Given the description of an element on the screen output the (x, y) to click on. 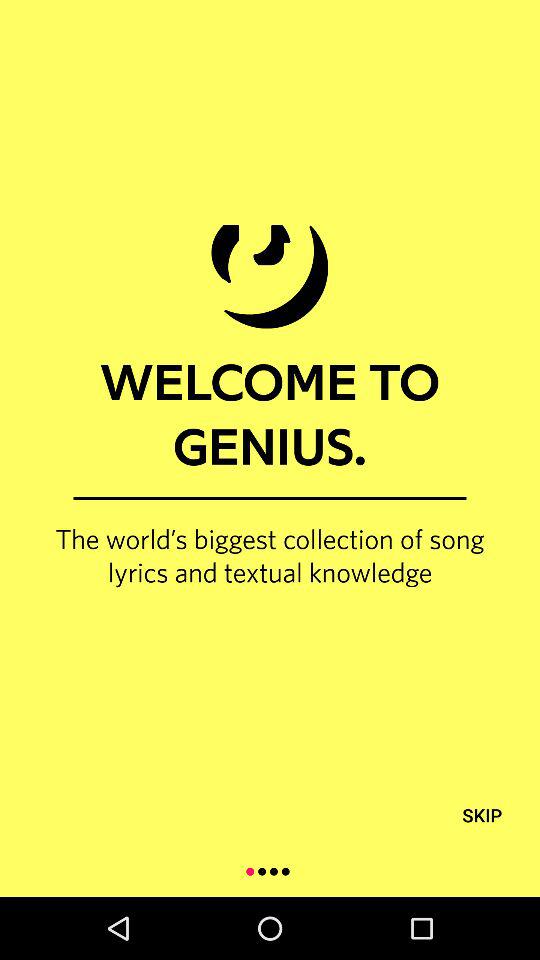
click icon at the bottom right corner (482, 814)
